Given the description of an element on the screen output the (x, y) to click on. 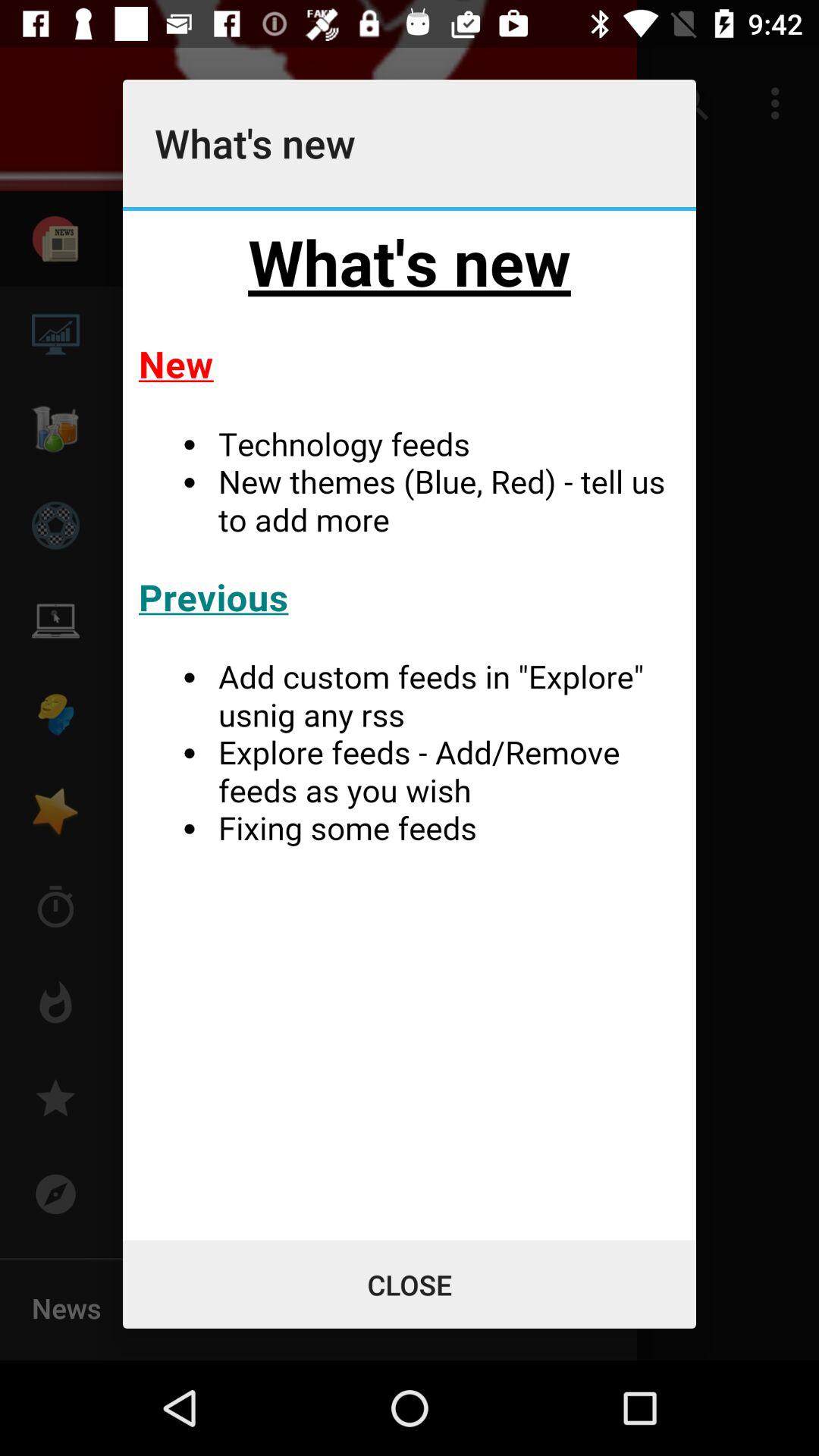
whats new pop up (409, 725)
